Given the description of an element on the screen output the (x, y) to click on. 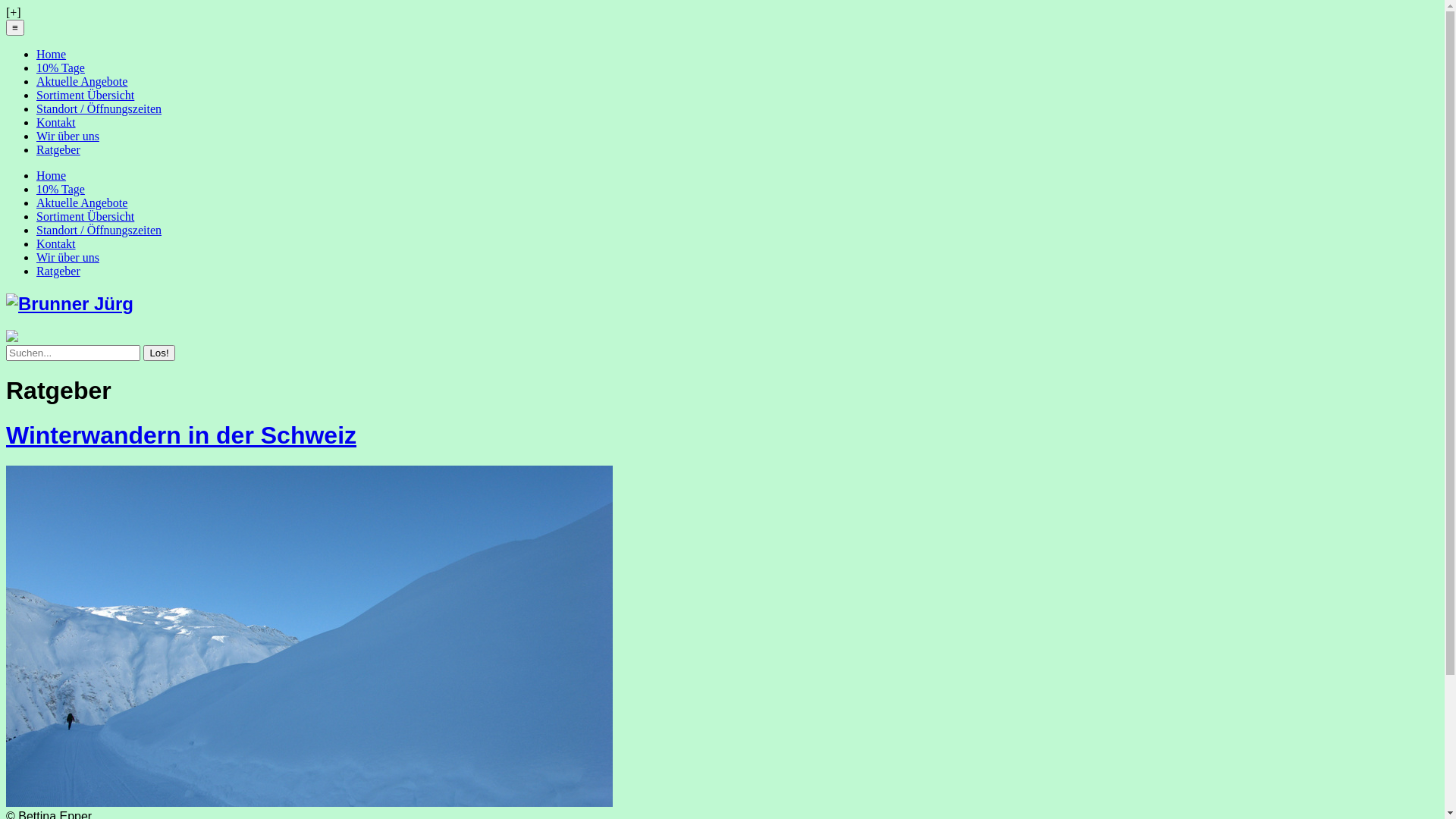
Ratgeber Element type: text (58, 149)
Kontakt Element type: text (55, 122)
10% Tage Element type: text (60, 188)
Kontakt Element type: text (55, 243)
Ratgeber Element type: text (58, 270)
10% Tage Element type: text (60, 67)
Home Element type: text (50, 53)
Aktuelle Angebote Element type: text (81, 202)
Winterwandern in der Schweiz Element type: text (181, 434)
Aktuelle Angebote Element type: text (81, 81)
Los! Element type: text (158, 352)
Home Element type: text (50, 175)
